Given the description of an element on the screen output the (x, y) to click on. 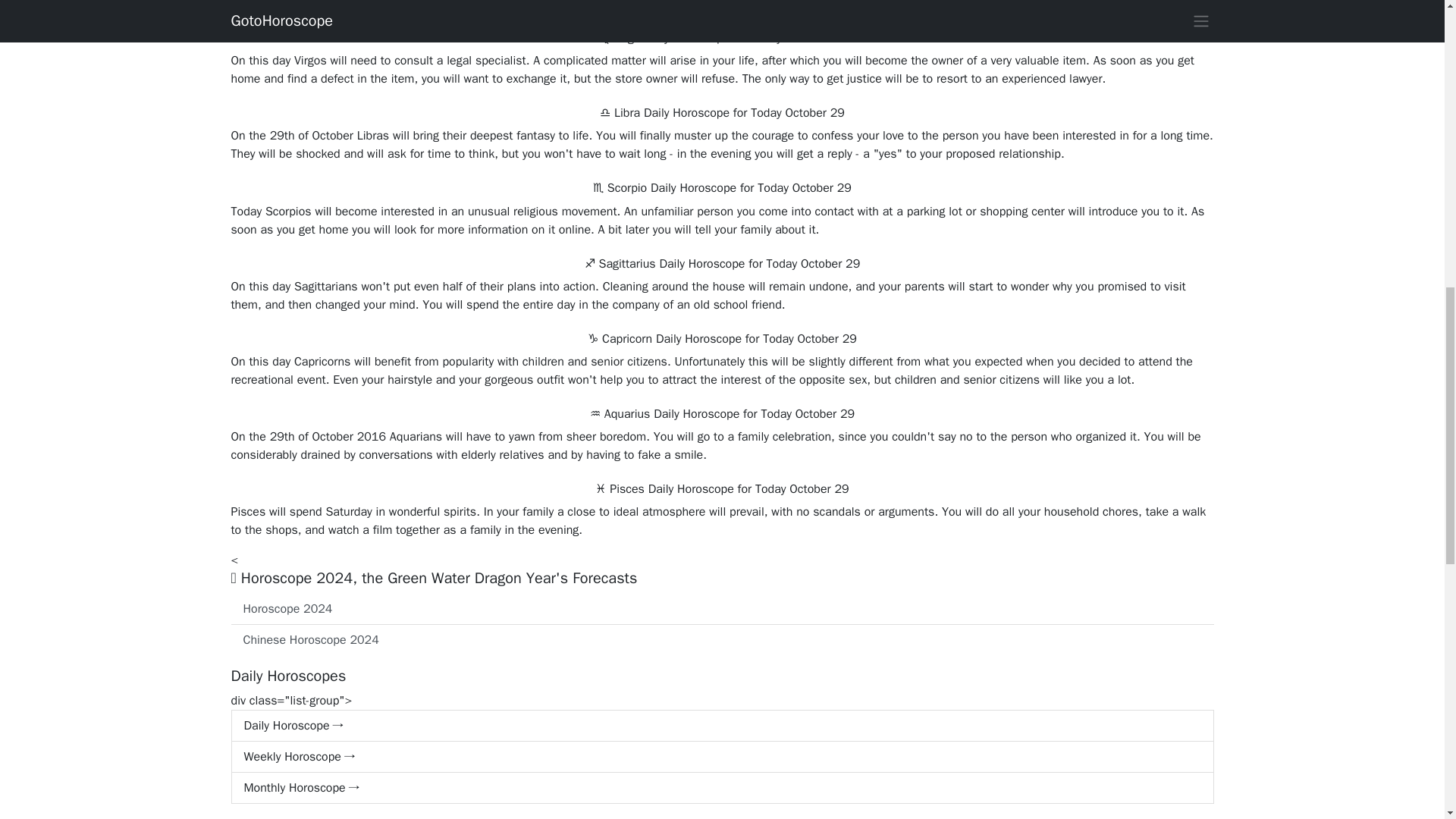
Chinese Horoscope 2024 (721, 639)
Monthly Horoscope (721, 788)
Horoscope 2024 (721, 608)
Daily Horoscope (721, 726)
Weekly Horoscope (721, 757)
